Given the description of an element on the screen output the (x, y) to click on. 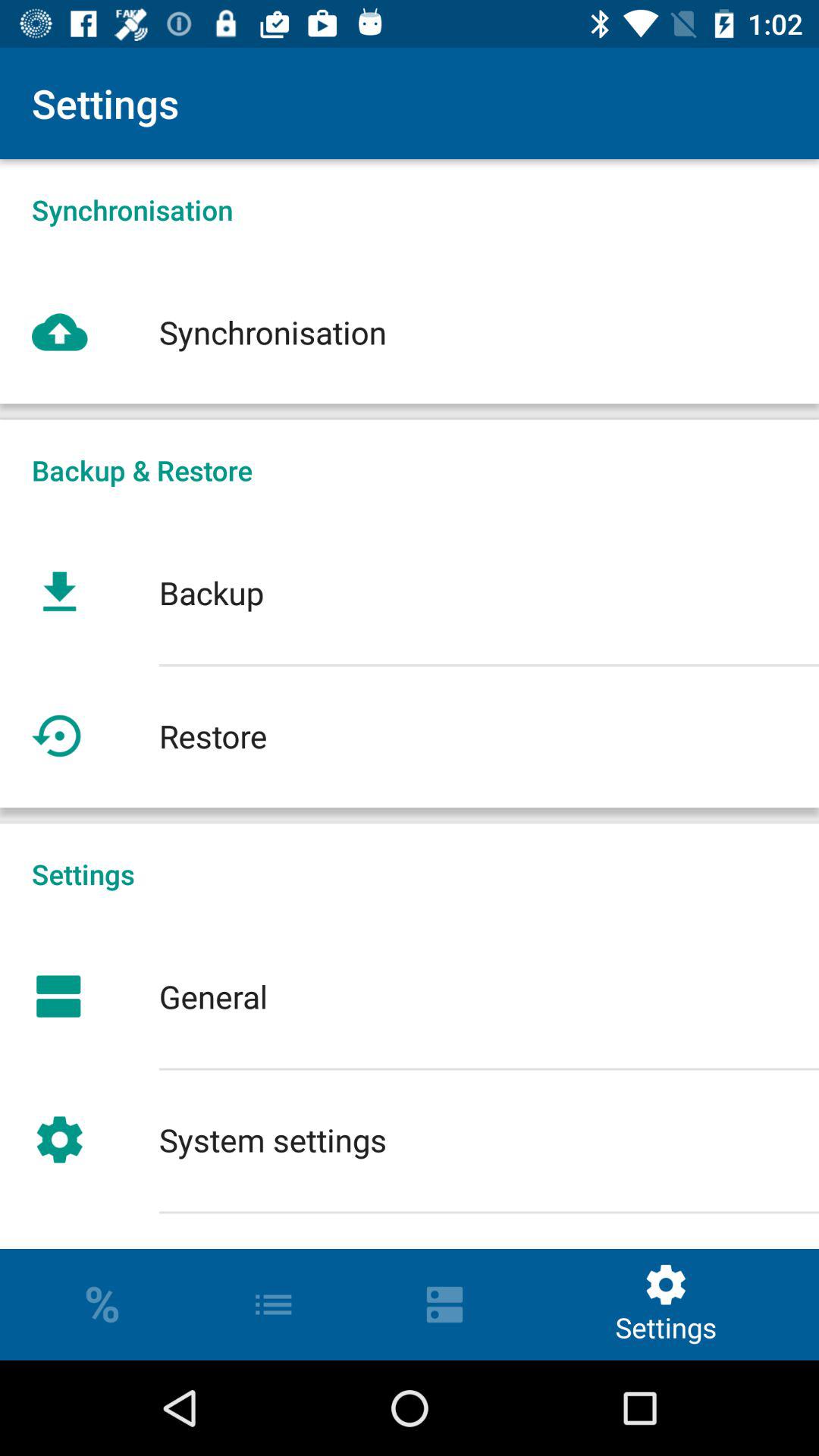
launch general icon (409, 996)
